Given the description of an element on the screen output the (x, y) to click on. 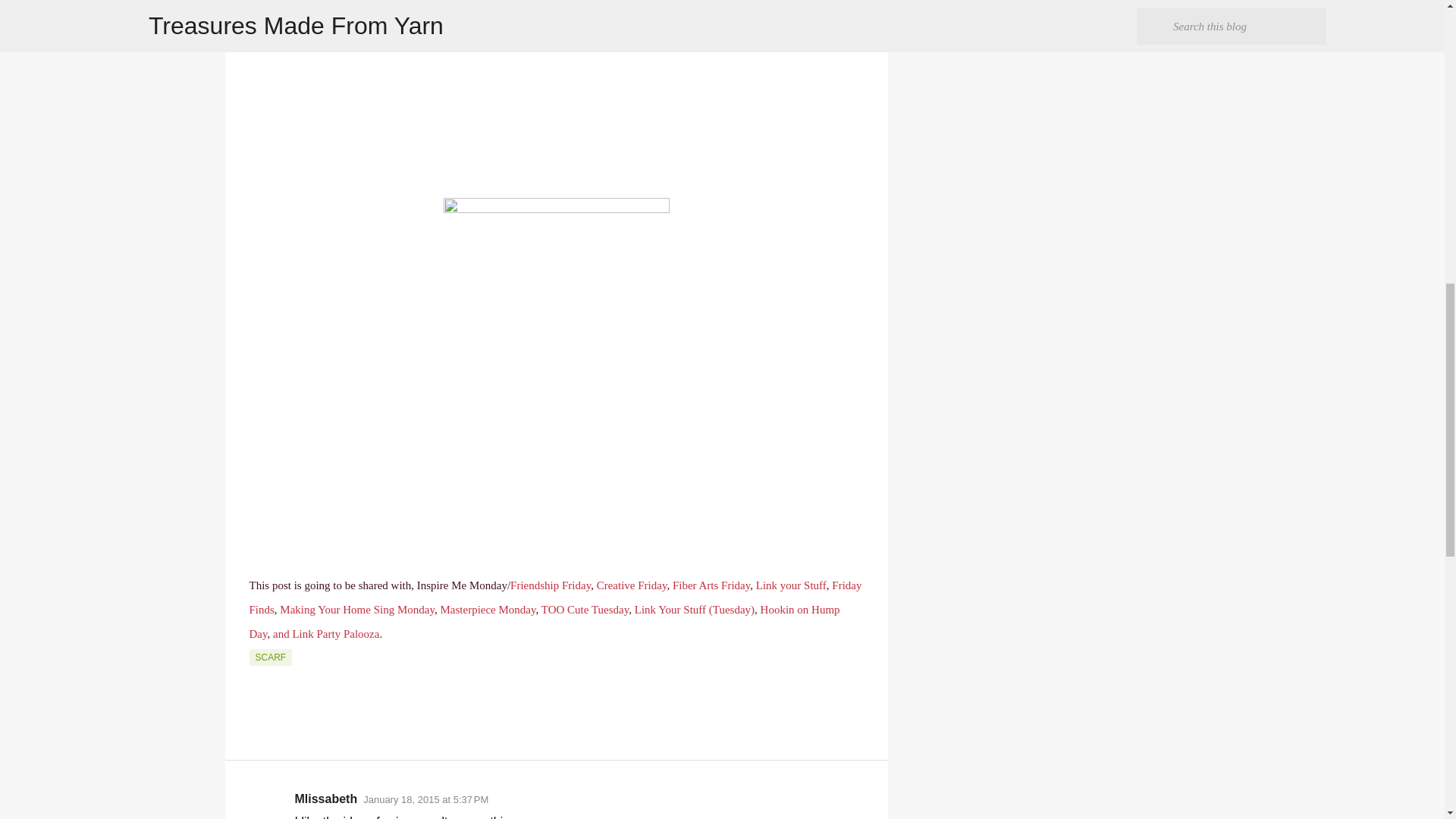
Creative Friday (631, 585)
 Hookin on Hump Day (544, 621)
Friendship Friday (551, 585)
 Masterpiece Monday (486, 609)
Friday Finds (554, 597)
Making Your Home Sing Monday (356, 609)
Mlissabeth (325, 798)
Fiber Arts Friday (710, 585)
Link your Stuff (791, 585)
SCARF (270, 657)
